Given the description of an element on the screen output the (x, y) to click on. 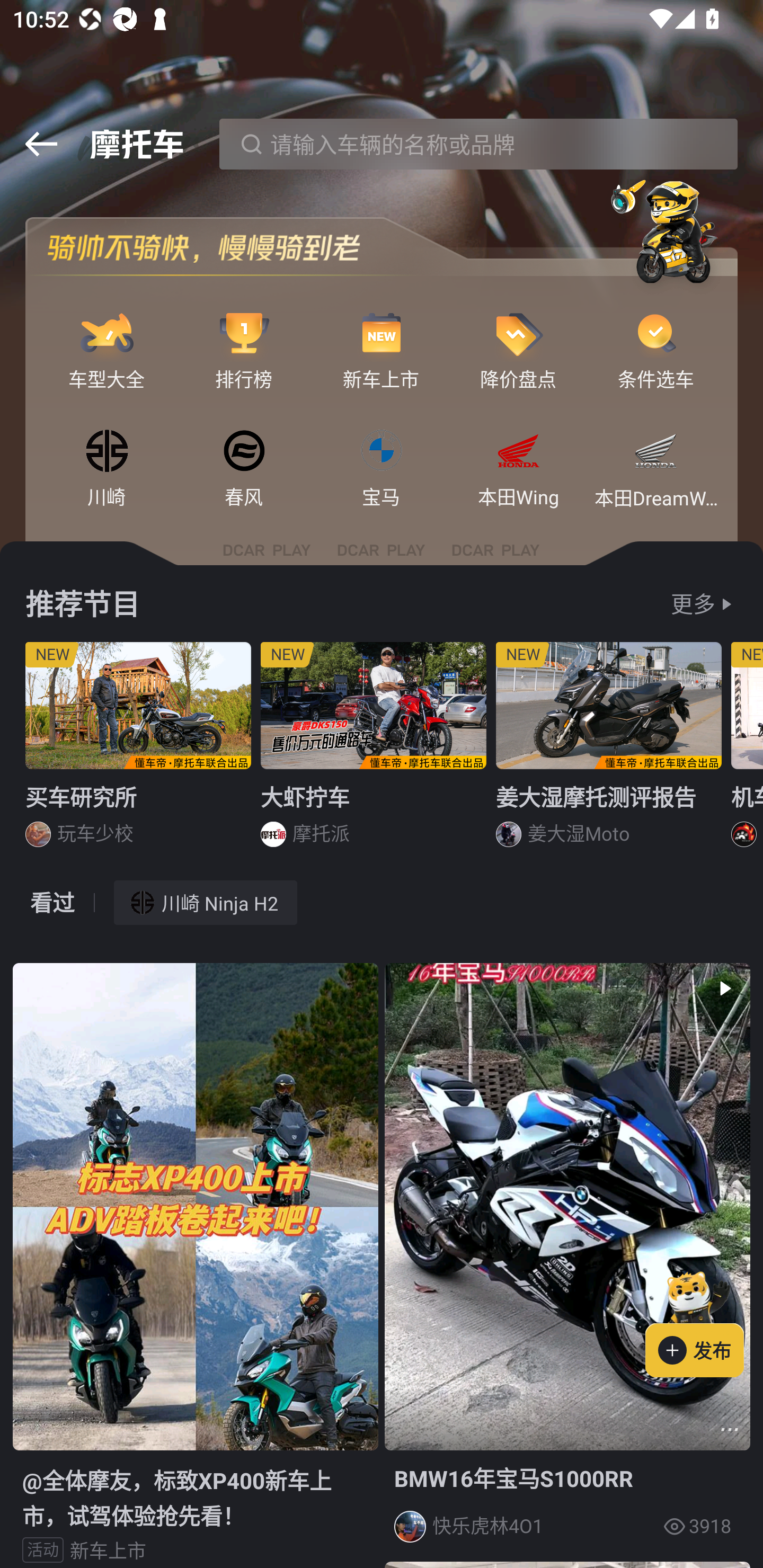
 请输入车辆的名称或品牌 (478, 144)
 (41, 144)
车型大全 (106, 334)
排行榜 (243, 334)
新车上市 (381, 334)
降价盘点 (518, 334)
条件选车 (655, 334)
川崎 (106, 452)
春风 (243, 452)
宝马 (381, 452)
本田Wing (518, 452)
本田DreamWing (655, 452)
更多 (692, 603)
NEW 买车研究所 玩车少校 (138, 750)
NEW 大虾拧车 摩托派 (373, 750)
NEW 姜大湿摩托测评报告 姜大湿Moto (608, 750)
川崎 Ninja H2 (205, 902)
@全体摩友，标致XP400新车上市，试驾体验抢先看！ 活动 新车上市 (195, 1265)
  BMW16年宝马S1000RR 快乐虎林4O1 < >3918 (567, 1258)
发布 (704, 1320)
 (729, 1429)
